Given the description of an element on the screen output the (x, y) to click on. 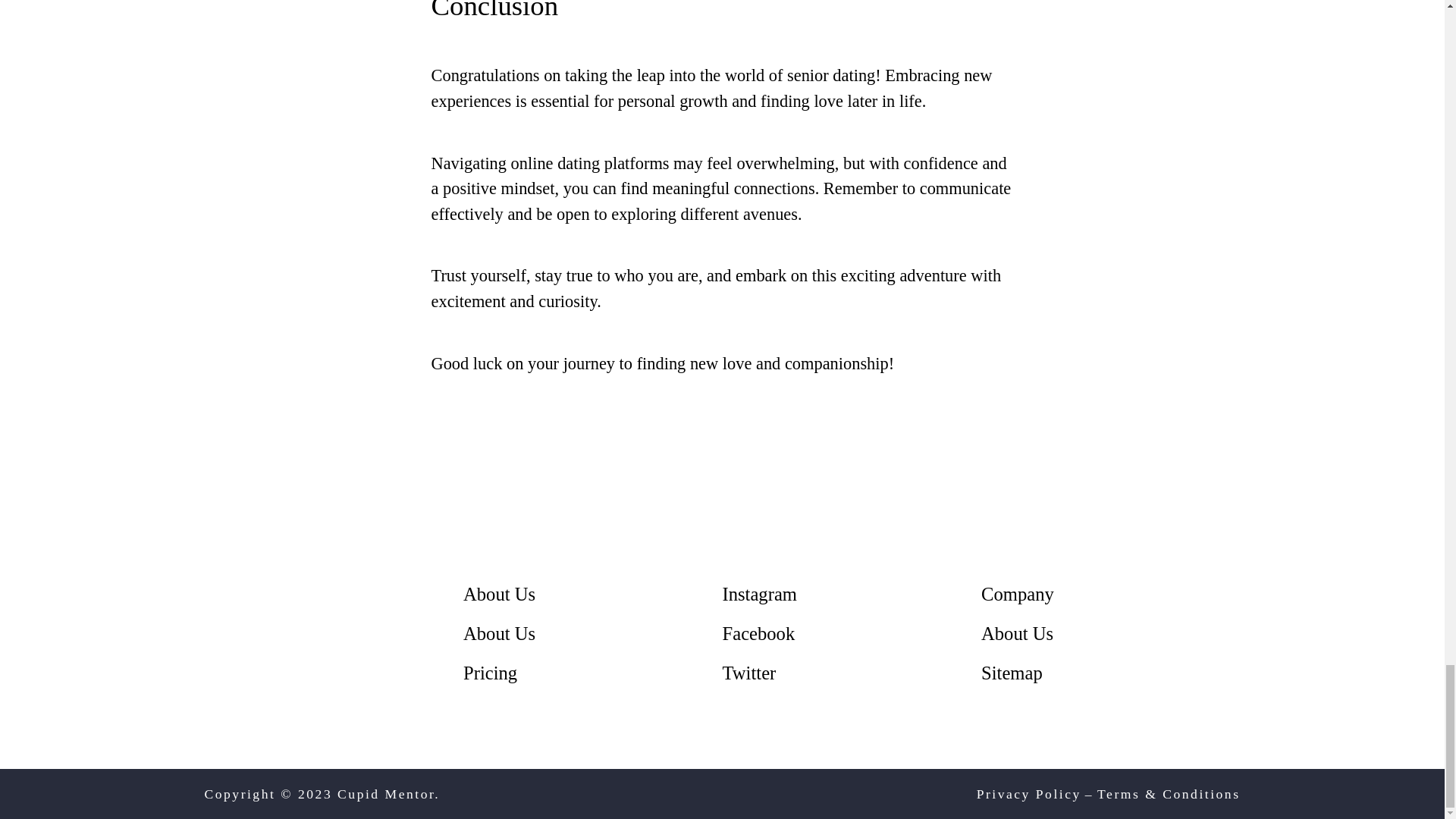
Privacy Policy (1028, 793)
Sitemap (1011, 672)
About Us (499, 593)
